Given the description of an element on the screen output the (x, y) to click on. 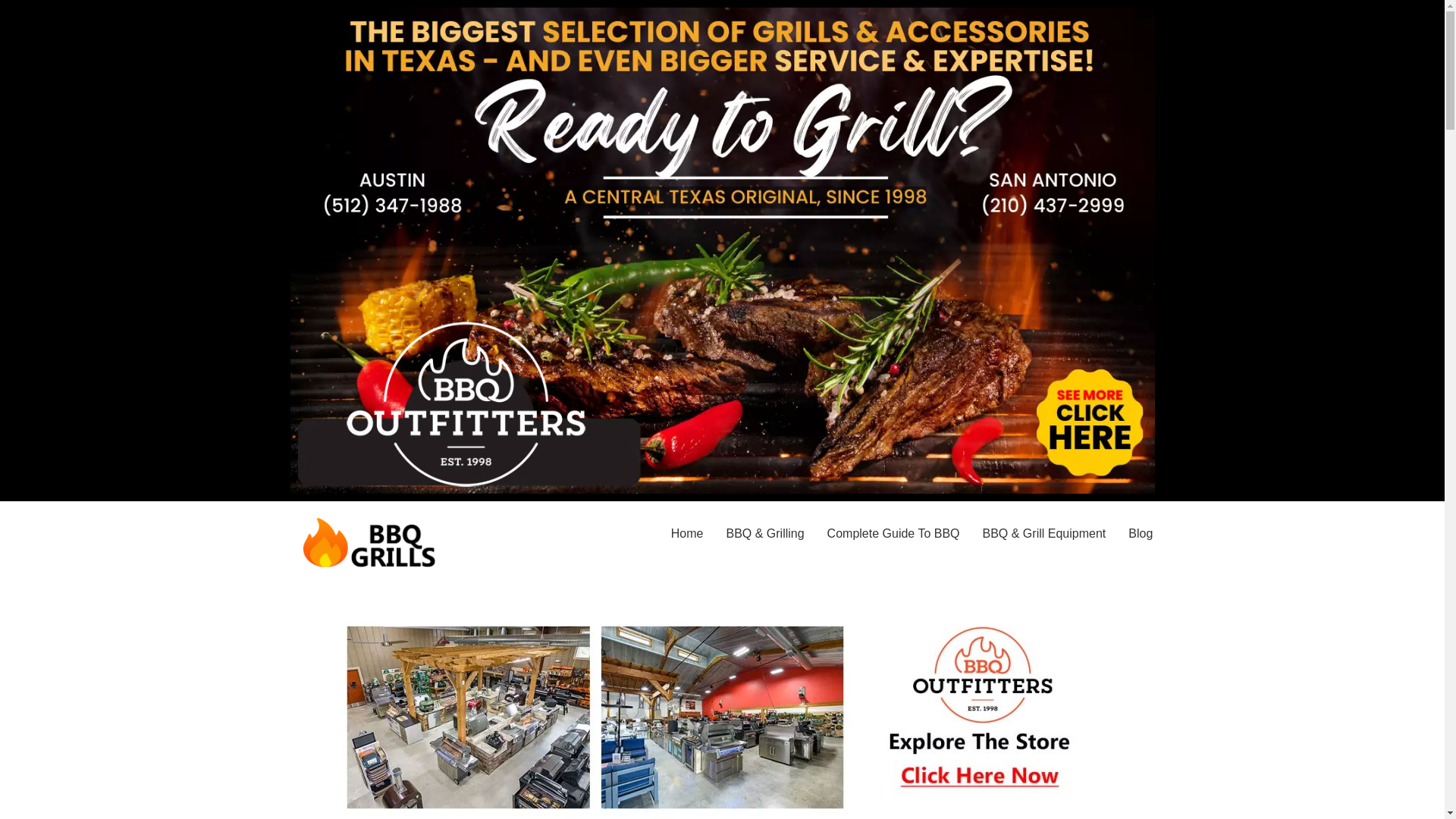
Complete Guide To BBQ (893, 533)
Blog (1139, 533)
Home (686, 533)
